Given the description of an element on the screen output the (x, y) to click on. 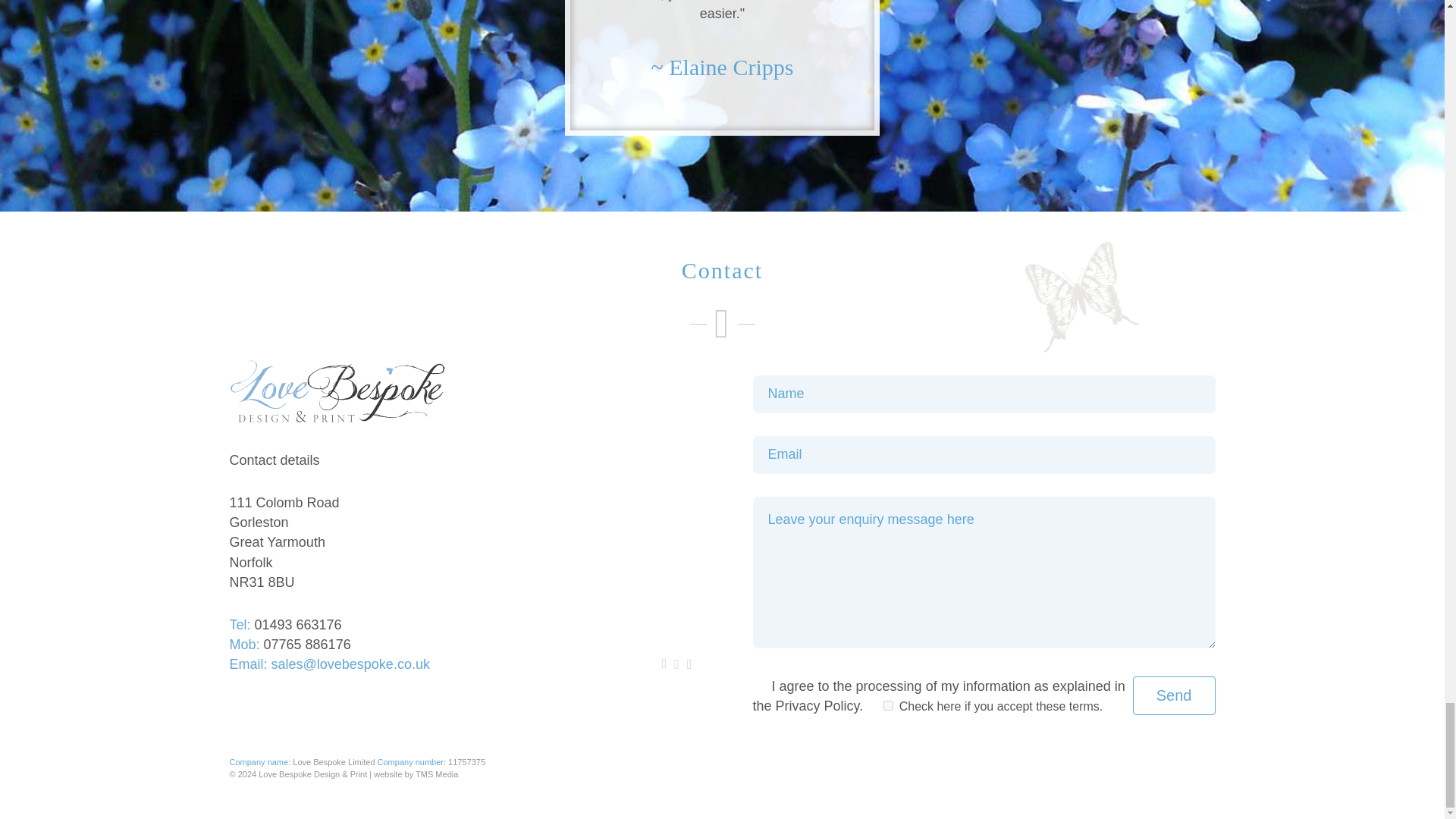
1 (888, 705)
TMS Media (436, 773)
Send (1173, 695)
Send (1173, 695)
